Given the description of an element on the screen output the (x, y) to click on. 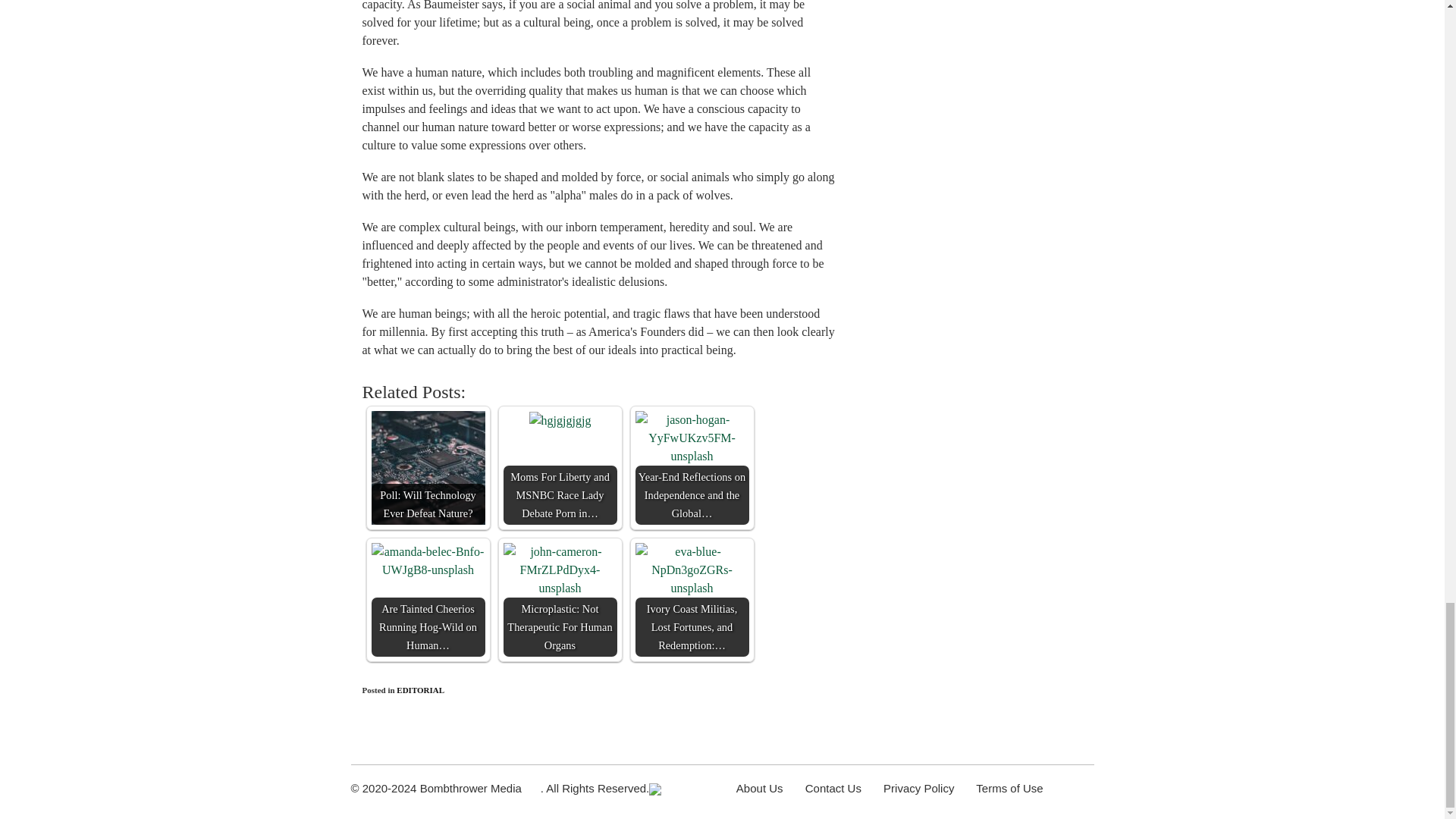
Microplastic: Not Therapeutic For Human Organs (560, 569)
Poll: Will Technology Ever Defeat Nature? (427, 467)
EDITORIAL (420, 689)
Poll: Will Technology Ever Defeat Nature? (427, 467)
Microplastic: Not Therapeutic For Human Organs (560, 599)
Terms of Use (1008, 788)
Privacy Policy (918, 788)
